Given the description of an element on the screen output the (x, y) to click on. 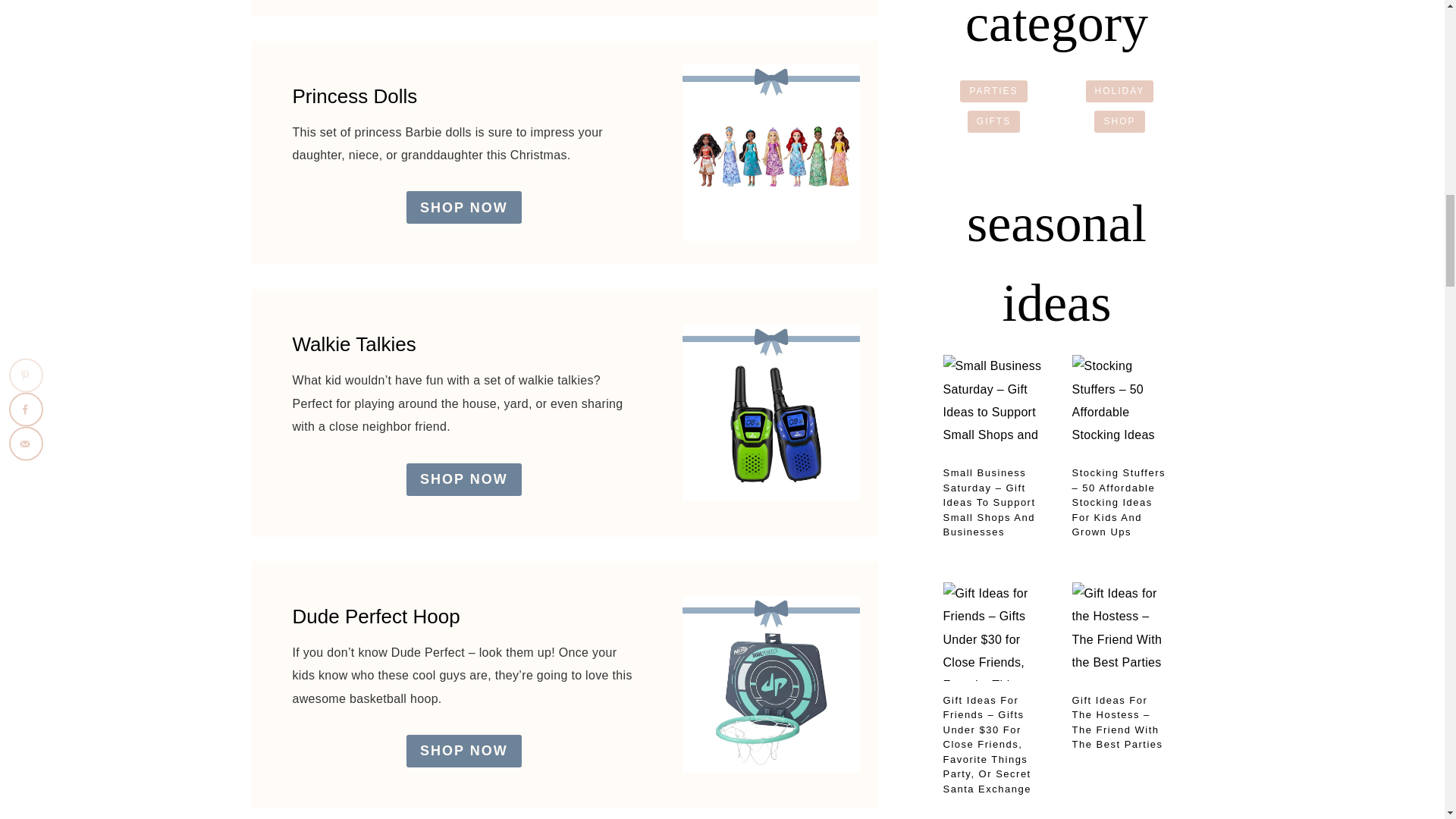
SHOP NOW (463, 479)
SHOP NOW (463, 206)
SHOP NOW (463, 750)
